Given the description of an element on the screen output the (x, y) to click on. 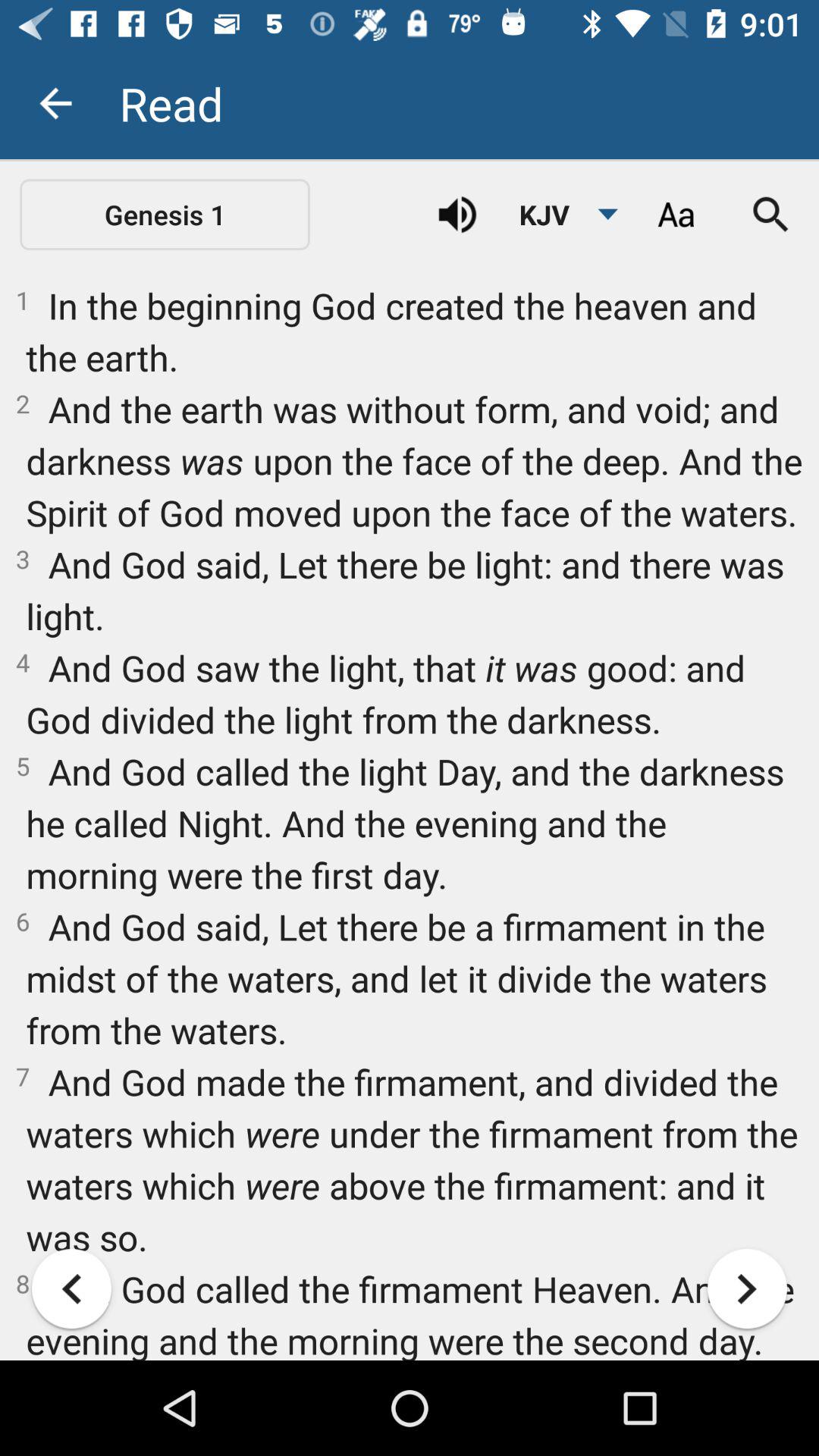
open icon above 1 in the icon (771, 214)
